Given the description of an element on the screen output the (x, y) to click on. 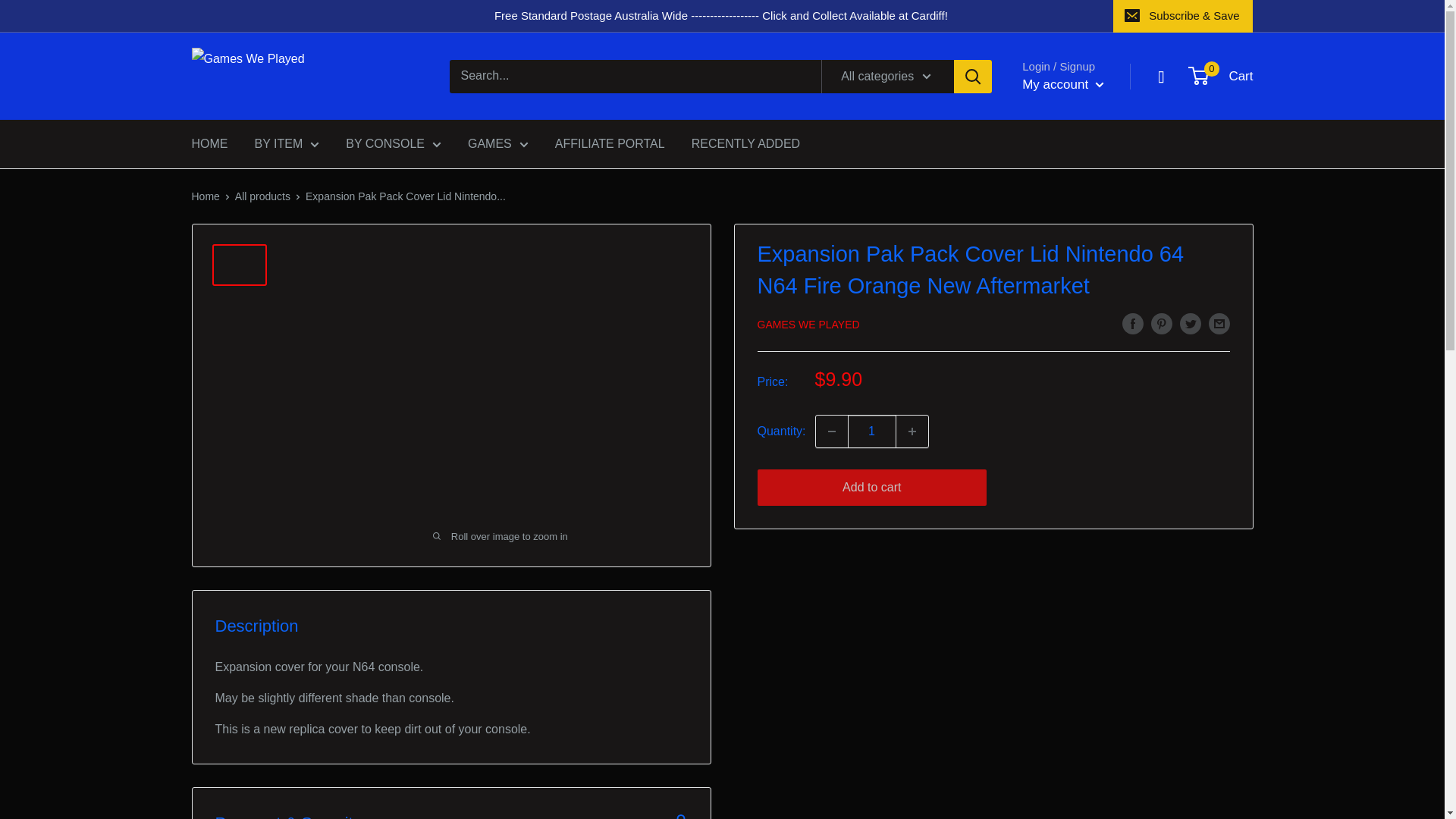
1 (871, 431)
Decrease quantity by 1 (831, 431)
Increase quantity by 1 (912, 431)
